Given the description of an element on the screen output the (x, y) to click on. 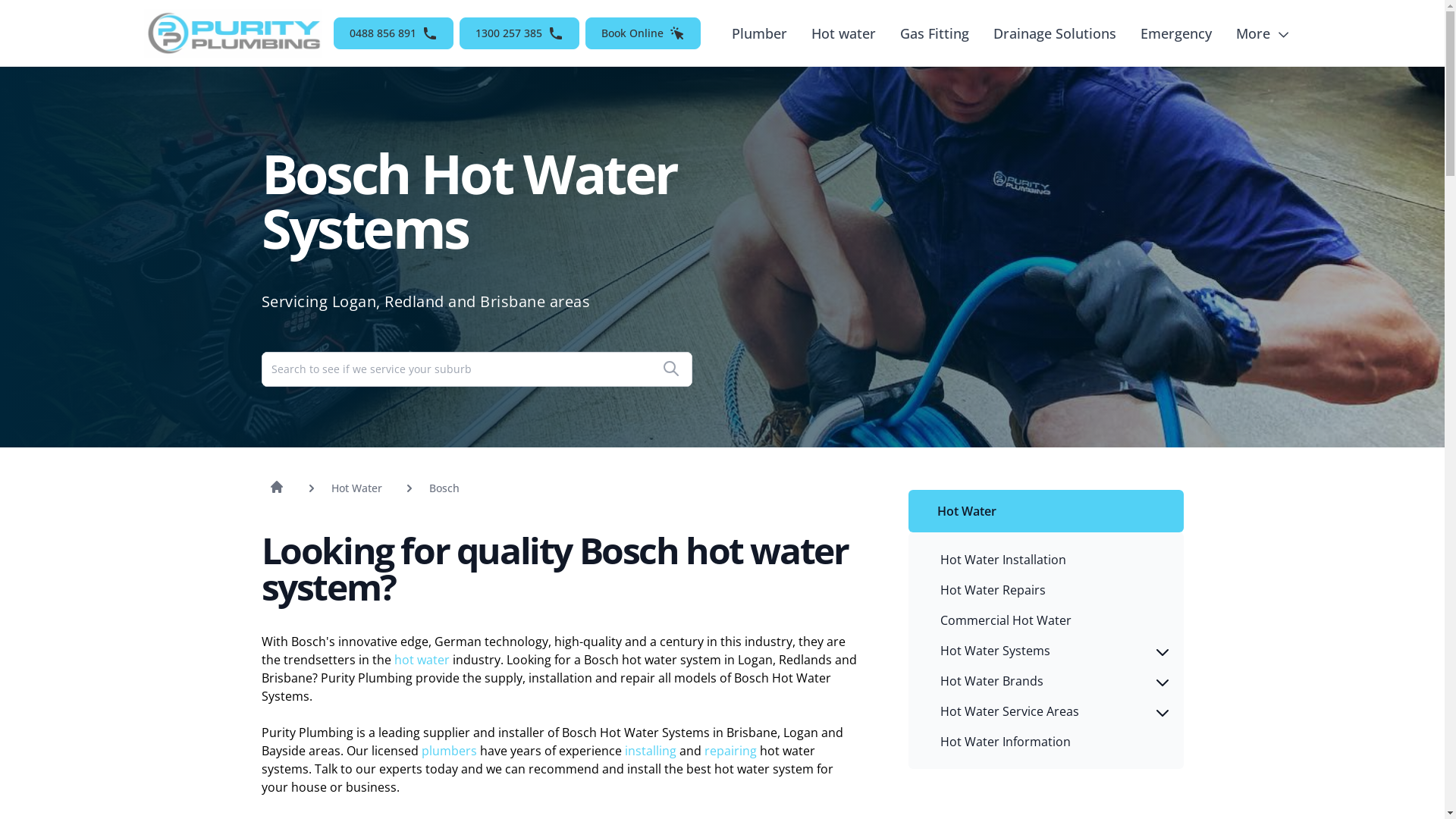
Commercial Hot Water Element type: text (1049, 620)
Purity Plumbers Brisbane, Redland and Logan Element type: hover (233, 33)
Plumber Element type: text (759, 32)
Emergency Element type: text (1175, 32)
Gas Fitting Element type: text (934, 32)
Hot Water Systems Element type: text (1049, 650)
Bosch Element type: text (444, 486)
Hot Water Repairs Element type: text (1049, 589)
Search Services near you Element type: hover (670, 368)
Hot Water Element type: text (1049, 510)
0488 856 891
--> Element type: text (393, 33)
hot water Element type: text (423, 659)
Hot Water Information Element type: text (1049, 741)
Book Online Element type: text (642, 33)
Purity Plumbing Home Page Element type: hover (275, 486)
plumbers Element type: text (450, 750)
installing Element type: text (651, 750)
repairing Element type: text (731, 750)
1300 257 385
--> Element type: text (519, 33)
Drainage Solutions Element type: text (1054, 32)
Hot Water Element type: text (355, 486)
Hot Water Service Areas Element type: text (1049, 711)
Hot water Element type: text (843, 32)
Hot Water Brands Element type: text (1049, 680)
Hot Water Installation Element type: text (1049, 559)
